Given the description of an element on the screen output the (x, y) to click on. 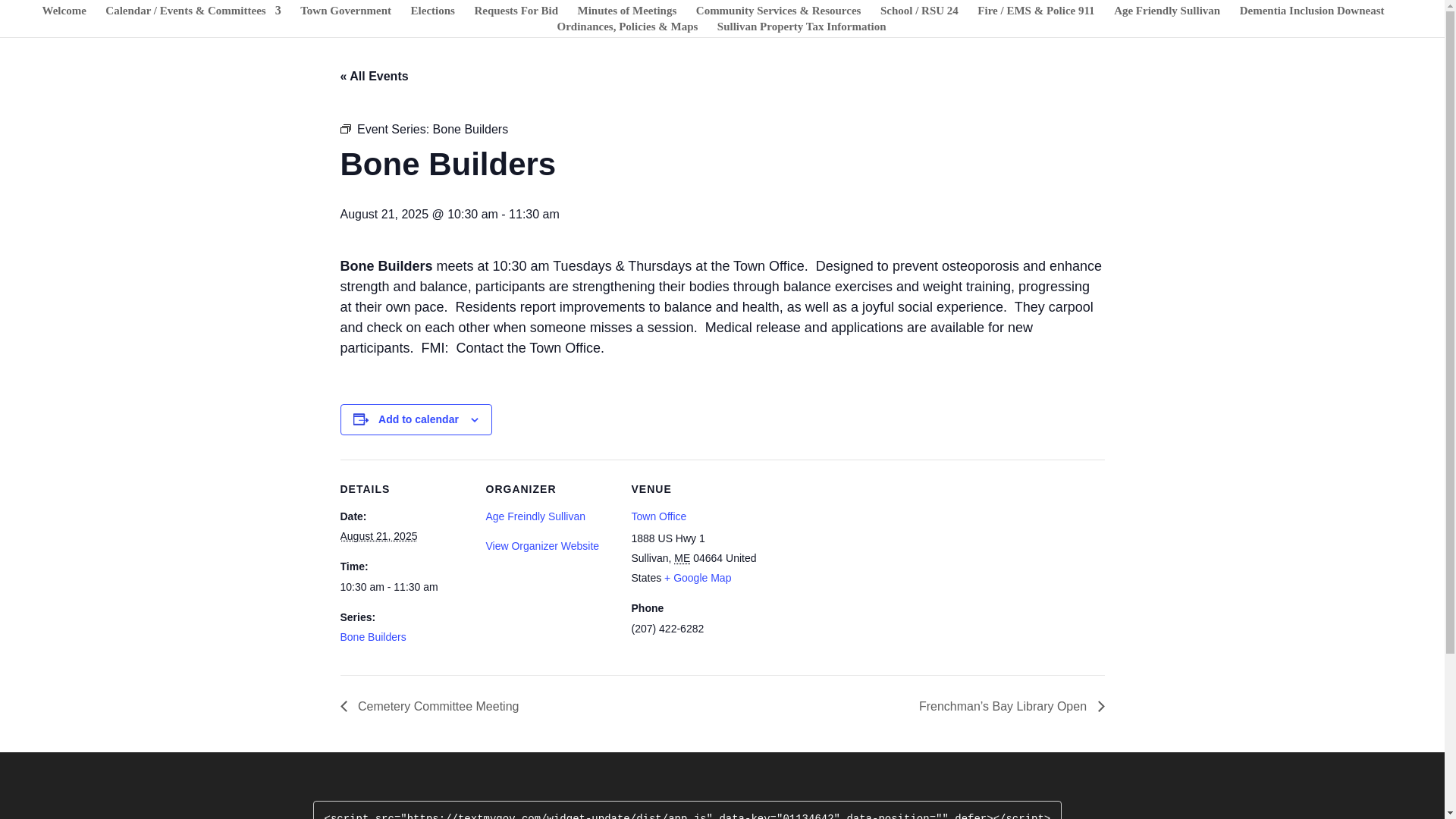
Age Freindly Sullivan (534, 516)
Town Office (657, 516)
Welcome (63, 12)
Dementia Inclusion Downeast (1312, 12)
Minutes of Meetings (626, 12)
Cemetery Committee Meeting (433, 706)
Add to calendar (418, 419)
2025-08-21 (377, 535)
Maine (682, 558)
Requests For Bid (515, 12)
2025-08-21 (403, 587)
Age Freindly Sullivan (534, 516)
Sullivan Property Tax Information (801, 28)
Town Government (345, 12)
Bone Builders (470, 128)
